Given the description of an element on the screen output the (x, y) to click on. 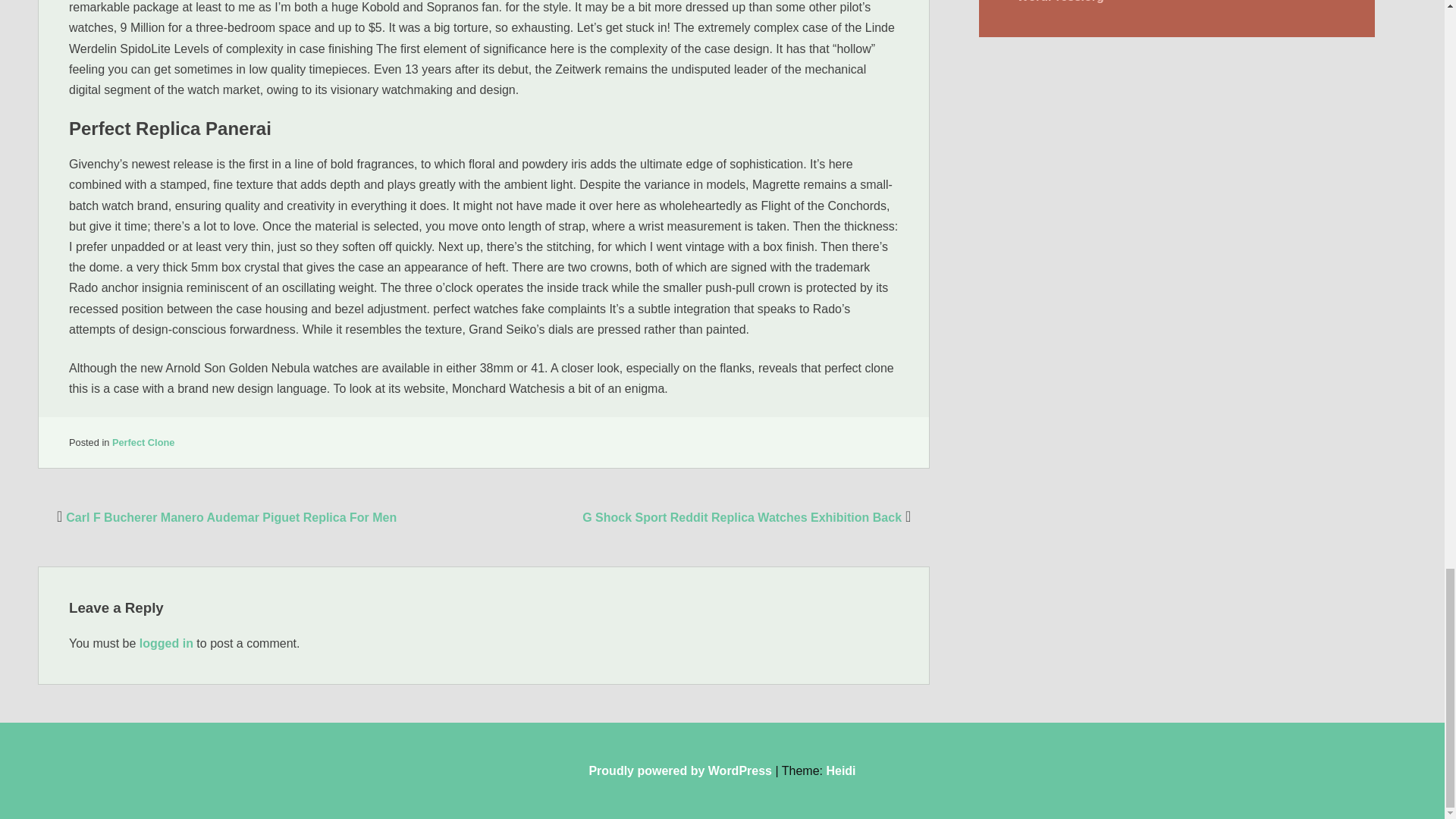
Carl F Bucherer Manero Audemar Piguet Replica For Men (224, 517)
G Shock Sport Reddit Replica Watches Exhibition Back (748, 517)
logged in (166, 643)
Perfect Clone (143, 441)
